Given the description of an element on the screen output the (x, y) to click on. 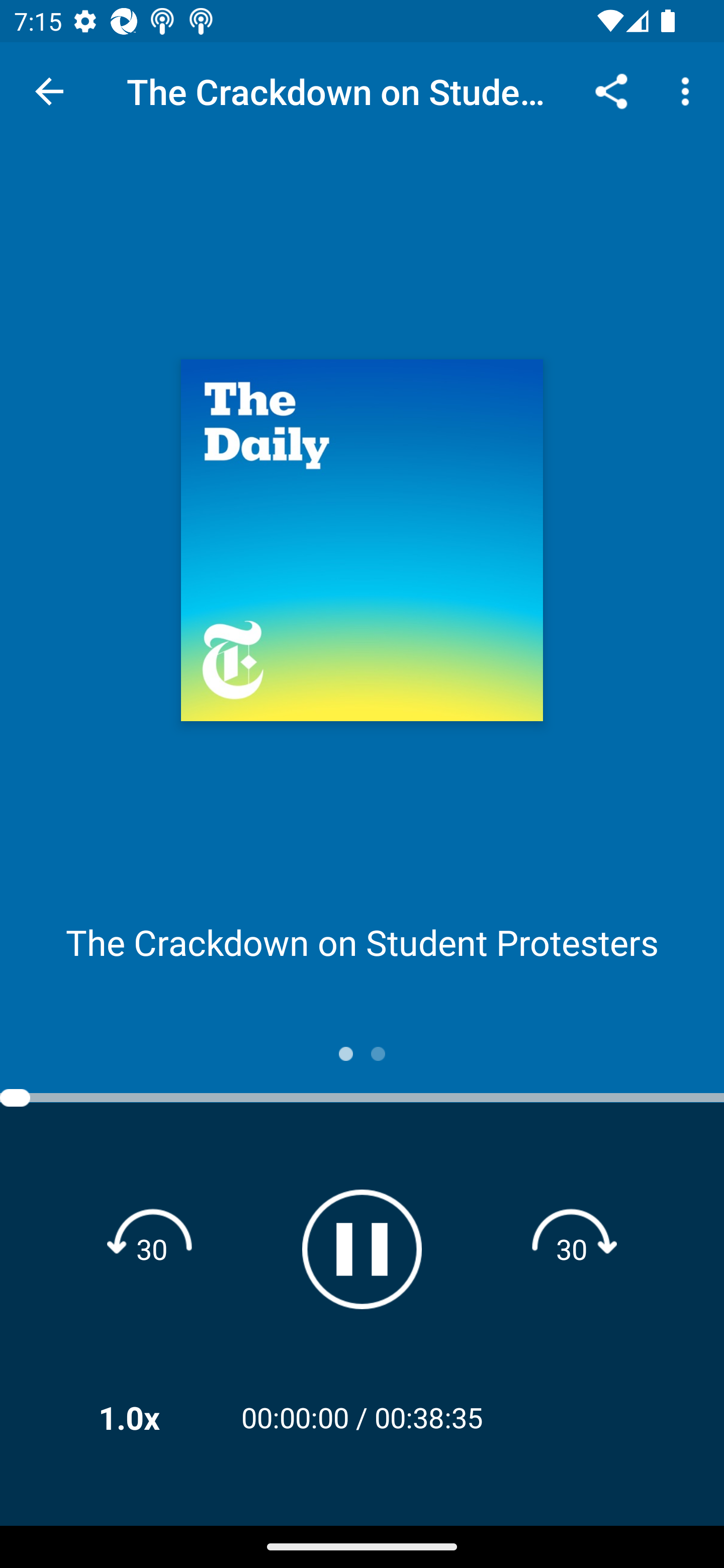
Navigate up (49, 91)
Share... (611, 90)
More options (688, 90)
Pause (361, 1249)
Rewind (151, 1248)
Fast forward (571, 1248)
1.0x Playback Speeds (154, 1417)
00:38:35 (428, 1417)
